Given the description of an element on the screen output the (x, y) to click on. 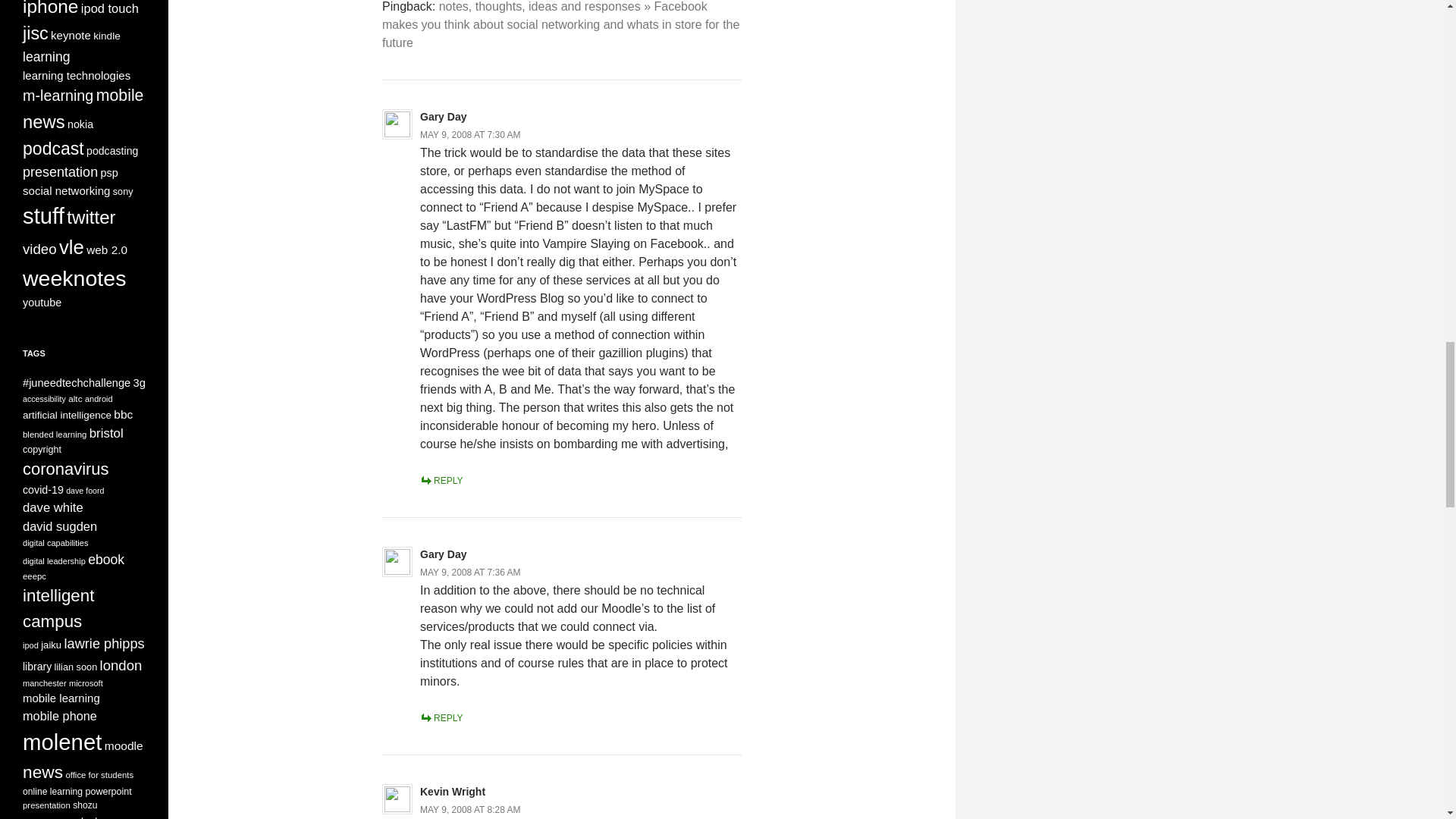
MAY 9, 2008 AT 7:30 AM (470, 134)
REPLY (441, 480)
Gary Day (442, 116)
Gary Day (442, 553)
